Given the description of an element on the screen output the (x, y) to click on. 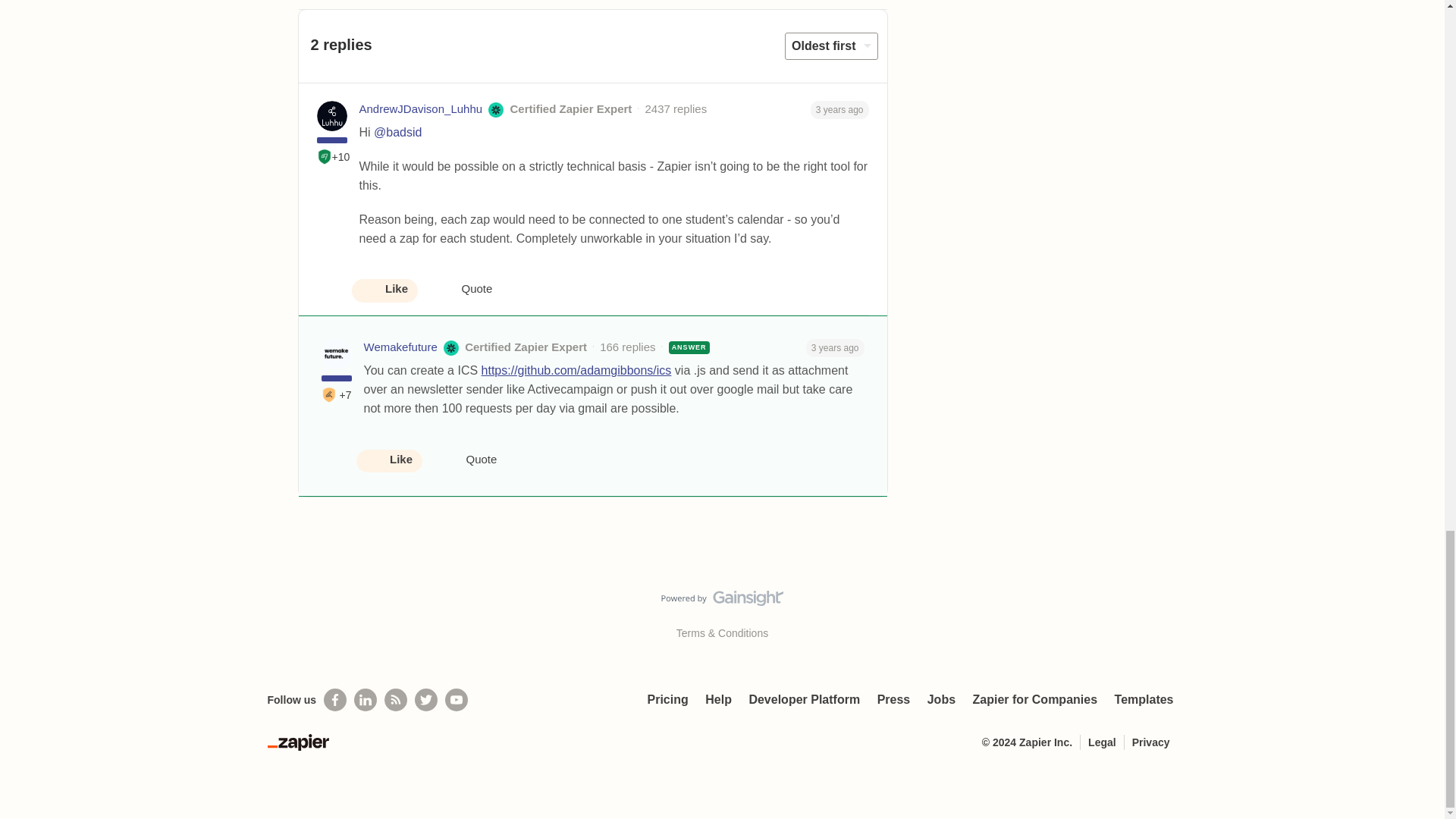
See helpful Zapier videos on Youtube (456, 699)
Wemakefuture (401, 347)
Subscribe to our blog (395, 699)
Follow us on Facebook (334, 699)
Visit Gainsight.com (722, 601)
First Best Answer (328, 394)
Helpful (324, 156)
Follow us on LinkedIn (365, 699)
